Given the description of an element on the screen output the (x, y) to click on. 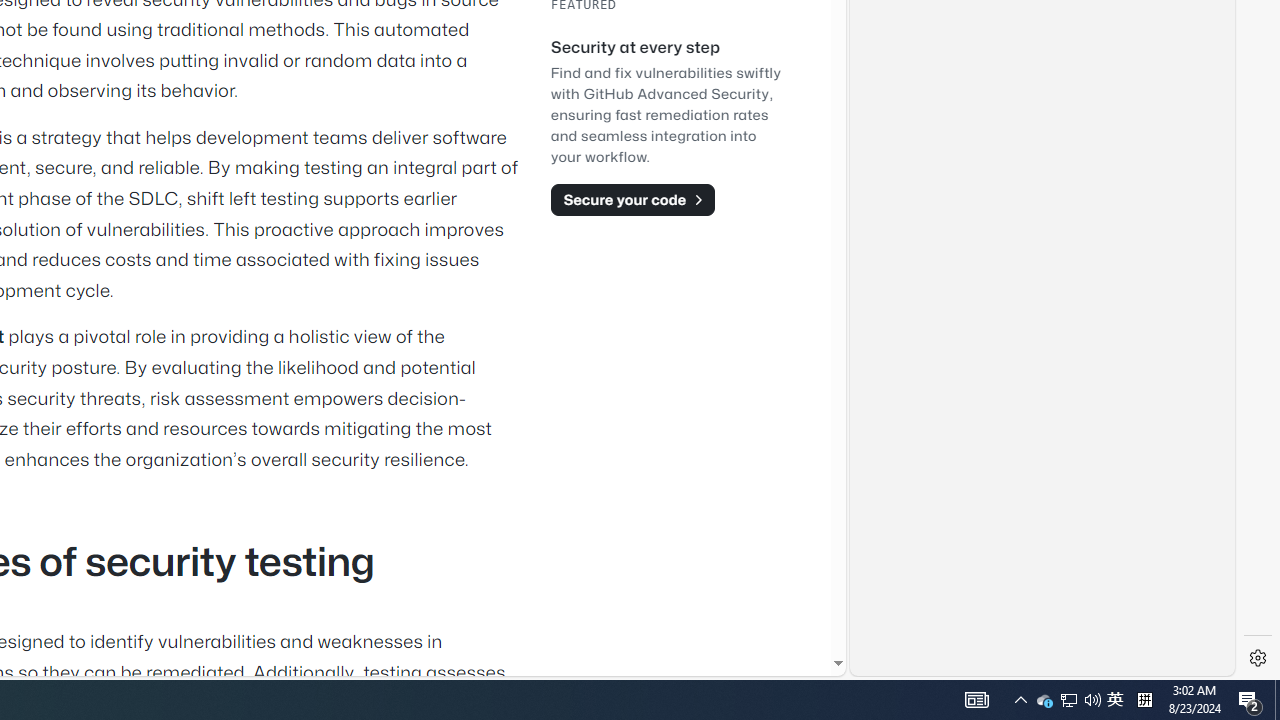
Secure your code (632, 199)
